Given the description of an element on the screen output the (x, y) to click on. 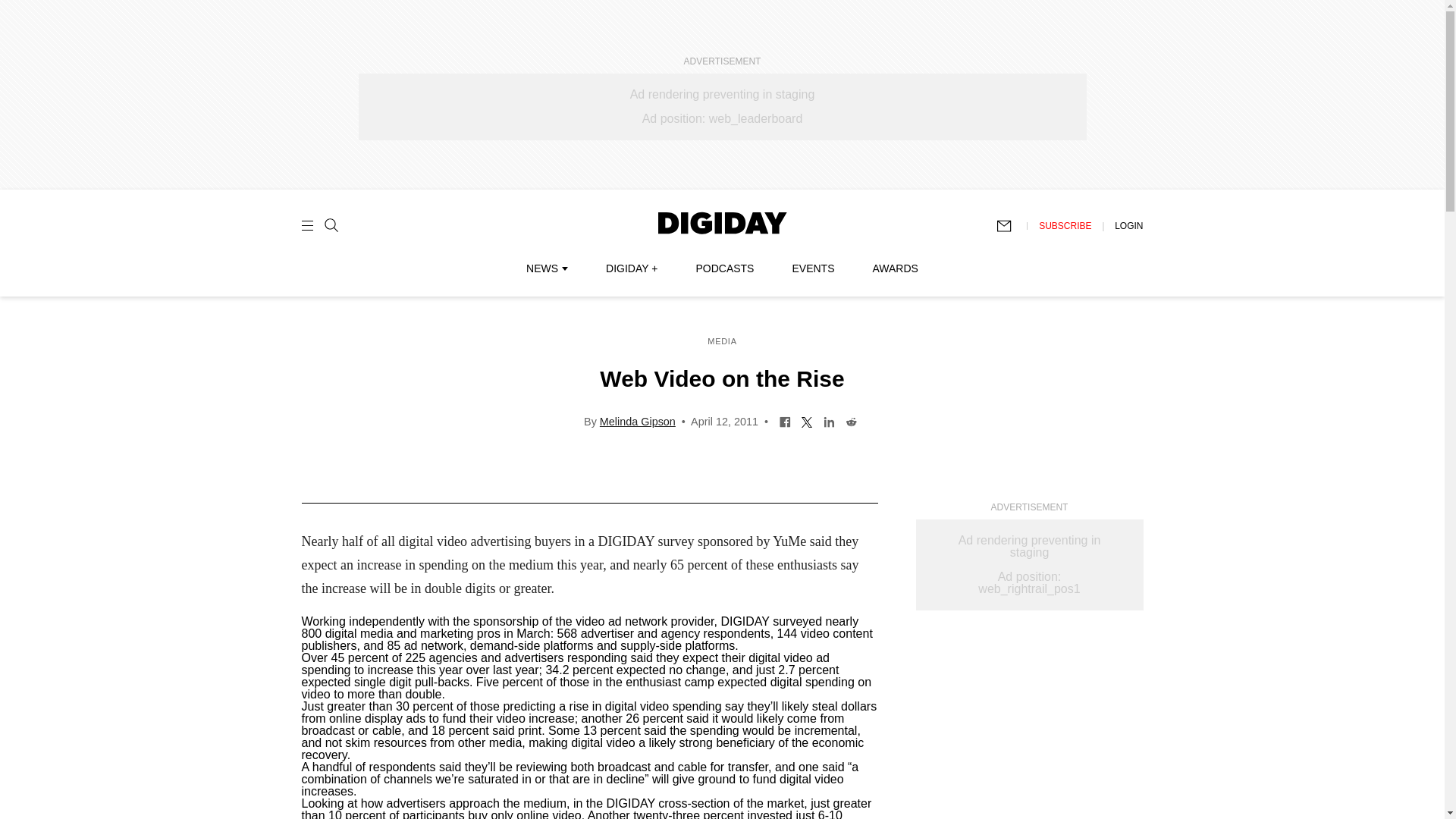
NEWS (546, 267)
Share on Facebook (785, 420)
LOGIN (1128, 225)
Share on LinkedIn (828, 420)
EVENTS (813, 267)
AWARDS (894, 267)
PODCASTS (725, 267)
Share on Twitter (806, 420)
Share on Reddit (850, 420)
SUBSCRIBE (1064, 225)
Subscribe (1010, 225)
